Given the description of an element on the screen output the (x, y) to click on. 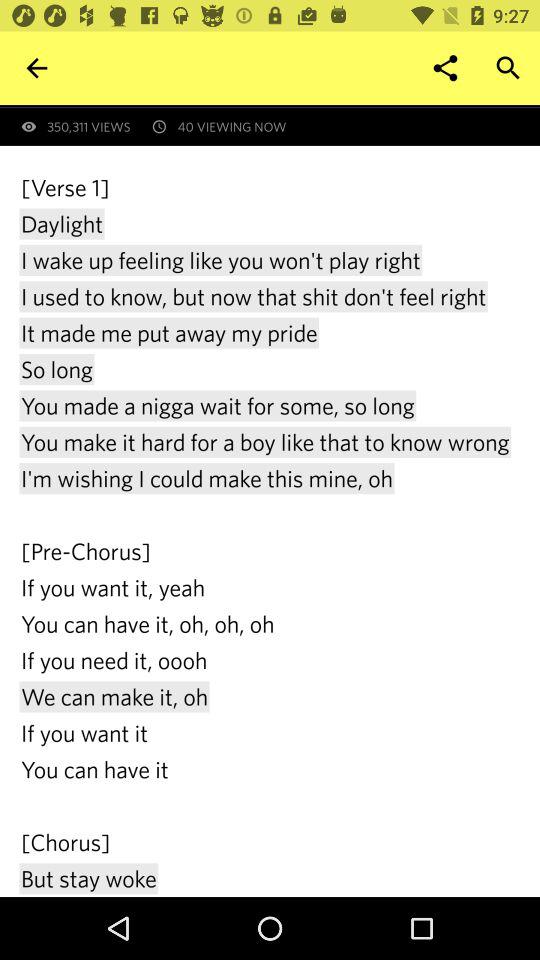
press verse 1 daylight (270, 534)
